Given the description of an element on the screen output the (x, y) to click on. 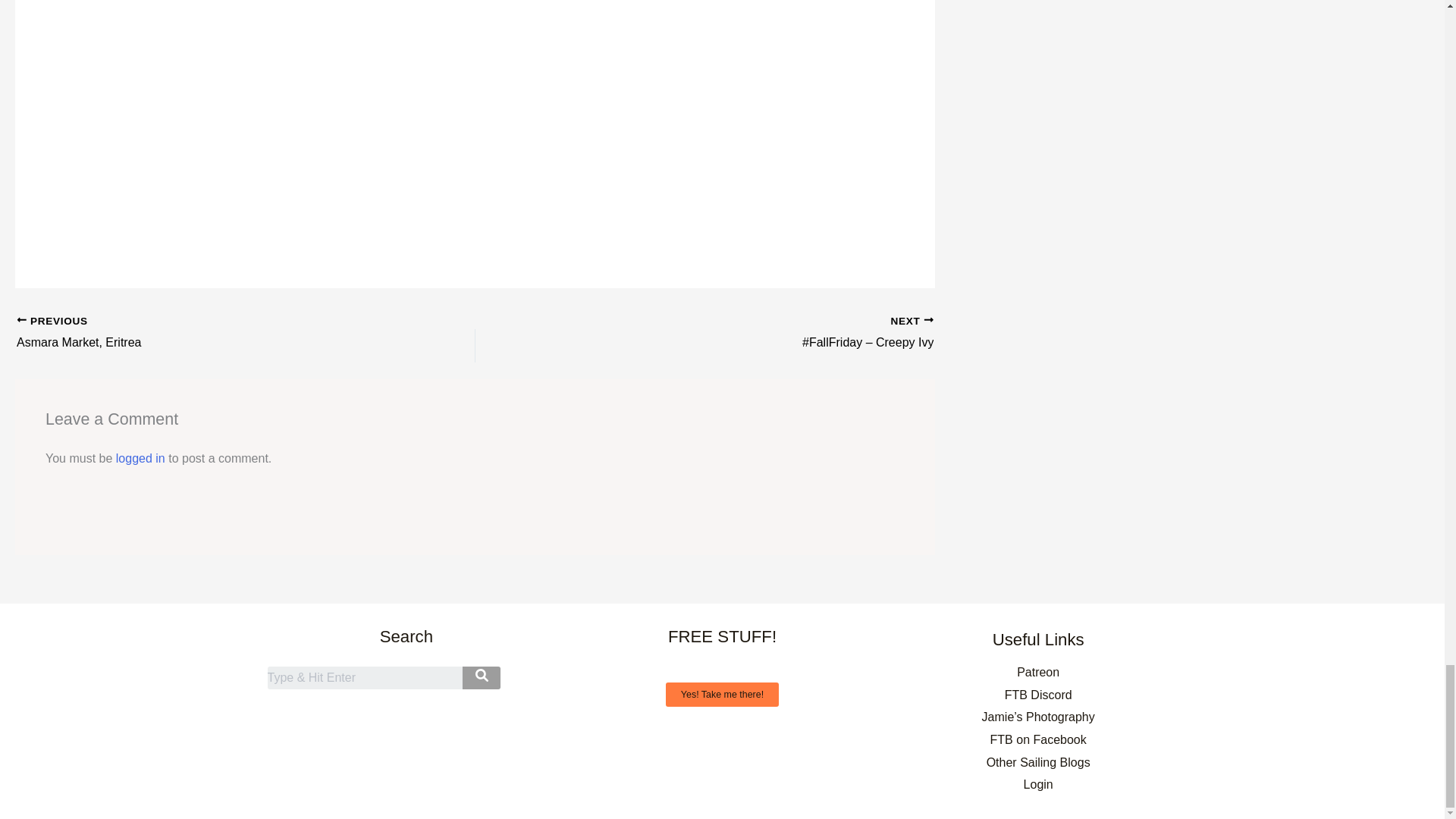
Asmara Market, Eritrea (200, 342)
logged in (140, 458)
Search (364, 677)
